Given the description of an element on the screen output the (x, y) to click on. 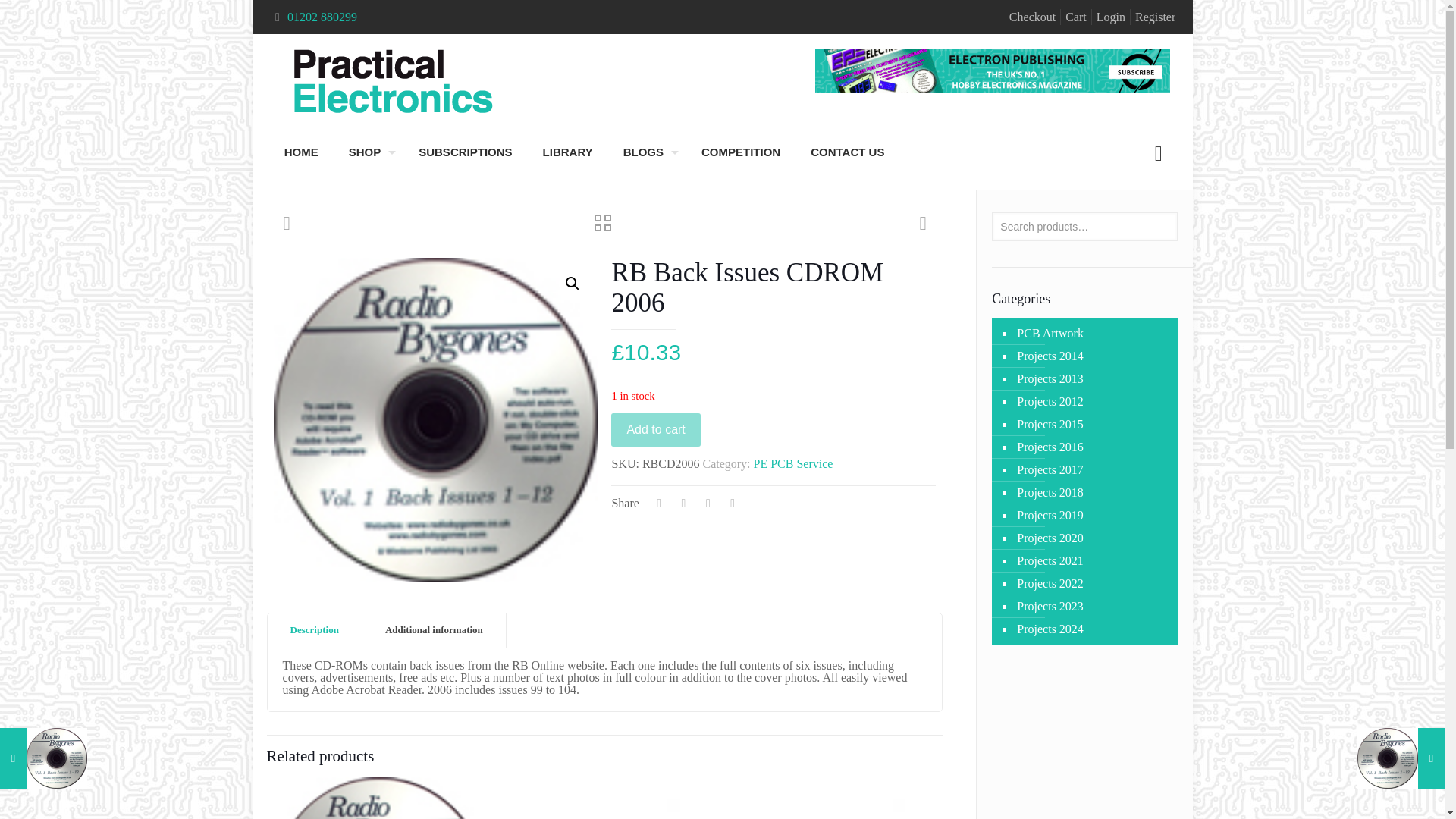
HOME (301, 152)
COMPETITION (739, 152)
Register (1154, 16)
Practical Electronics (393, 81)
BLOGS (646, 152)
Checkout (1032, 16)
SHOP (368, 152)
SUBSCRIPTIONS (465, 152)
CONTACT US (846, 152)
01202 880299 (321, 16)
Login (1110, 16)
Cart (1075, 16)
LIBRARY (567, 152)
images (434, 419)
